Given the description of an element on the screen output the (x, y) to click on. 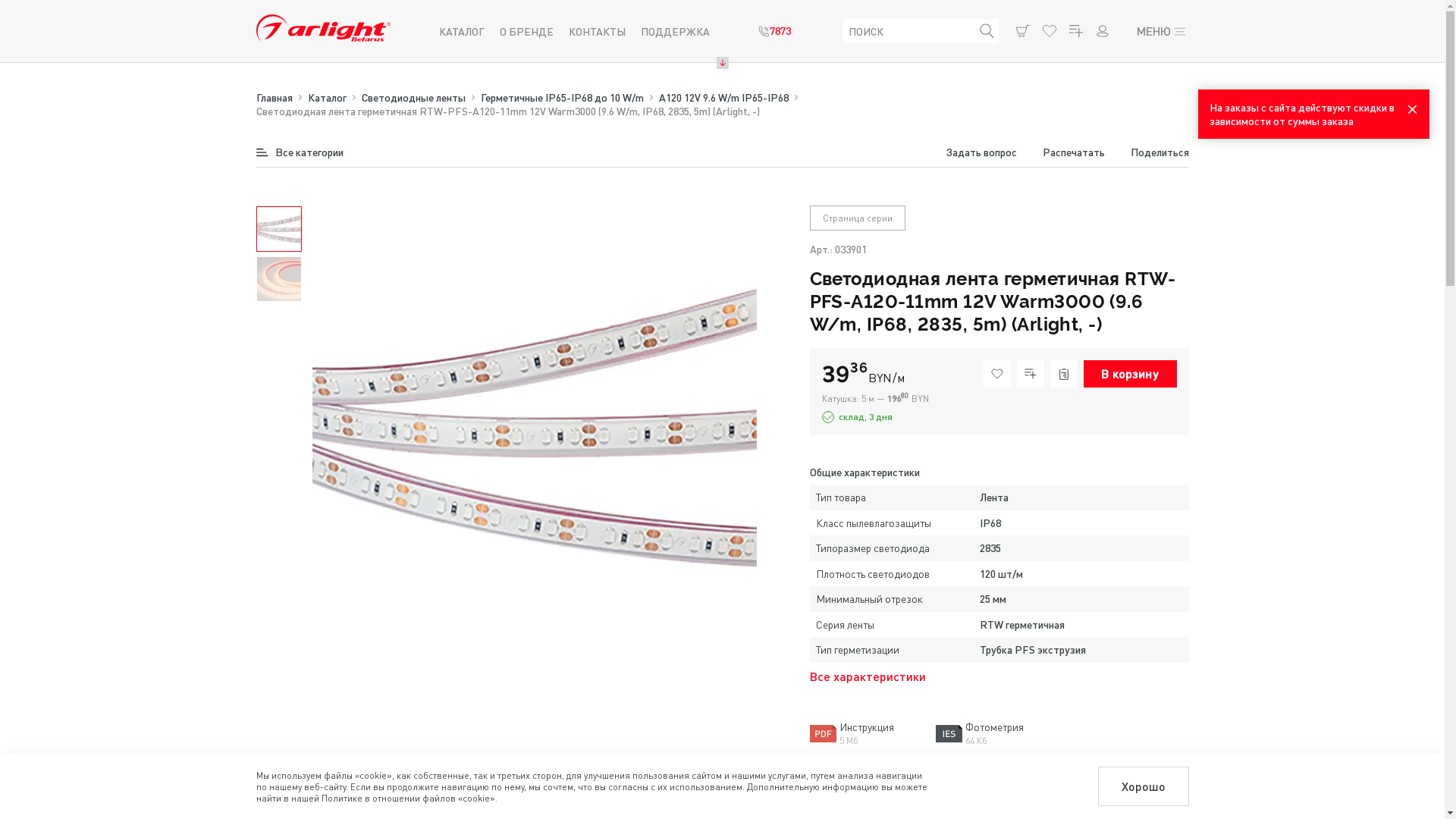
A120 12V 9.6 W/m IP65-IP68 Element type: text (722, 96)
7873 Element type: text (774, 30)
